Given the description of an element on the screen output the (x, y) to click on. 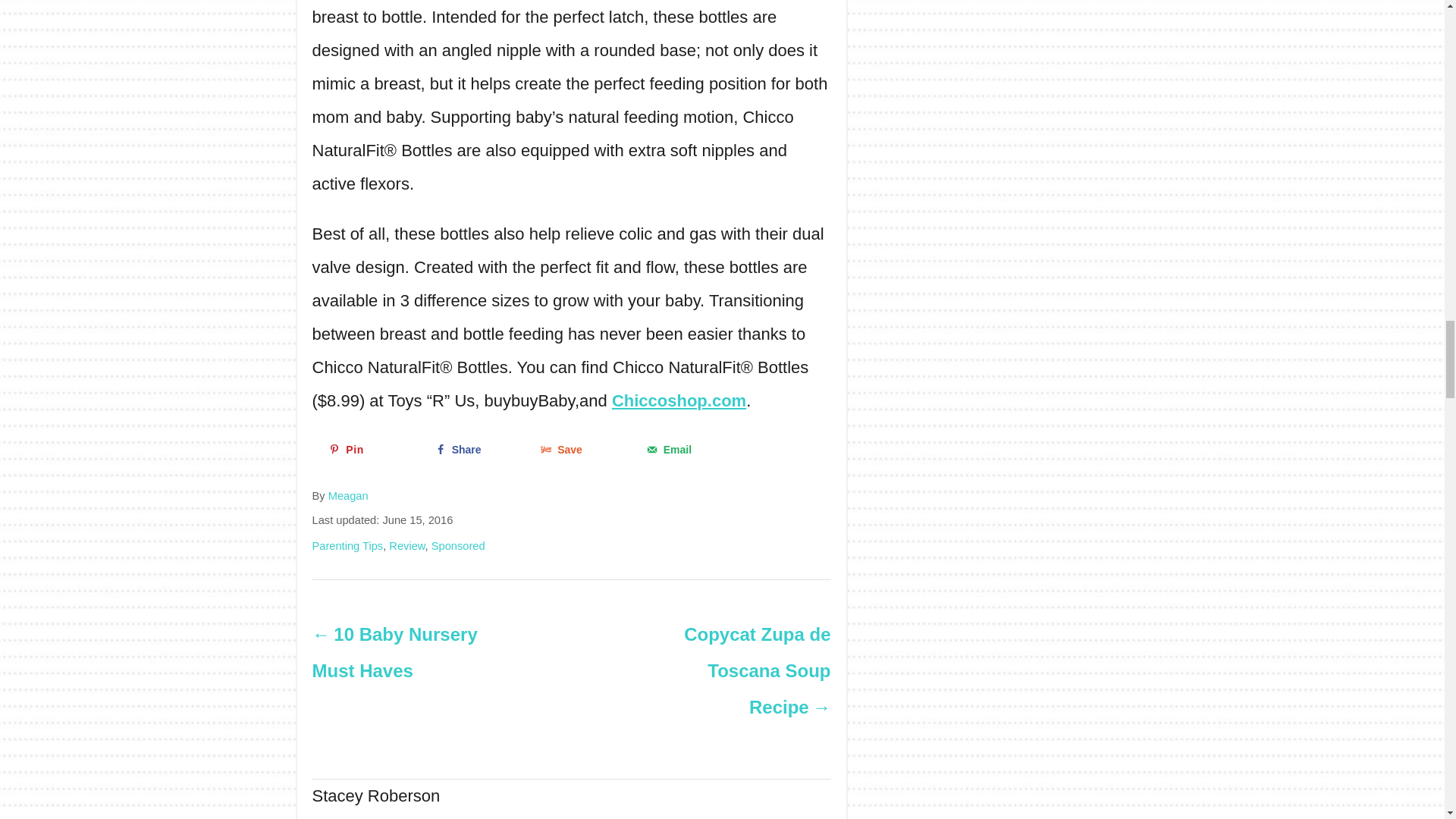
Share on Facebook (476, 449)
Send over email (687, 449)
Share on Yummly (581, 449)
Save to Pinterest (369, 449)
